Given the description of an element on the screen output the (x, y) to click on. 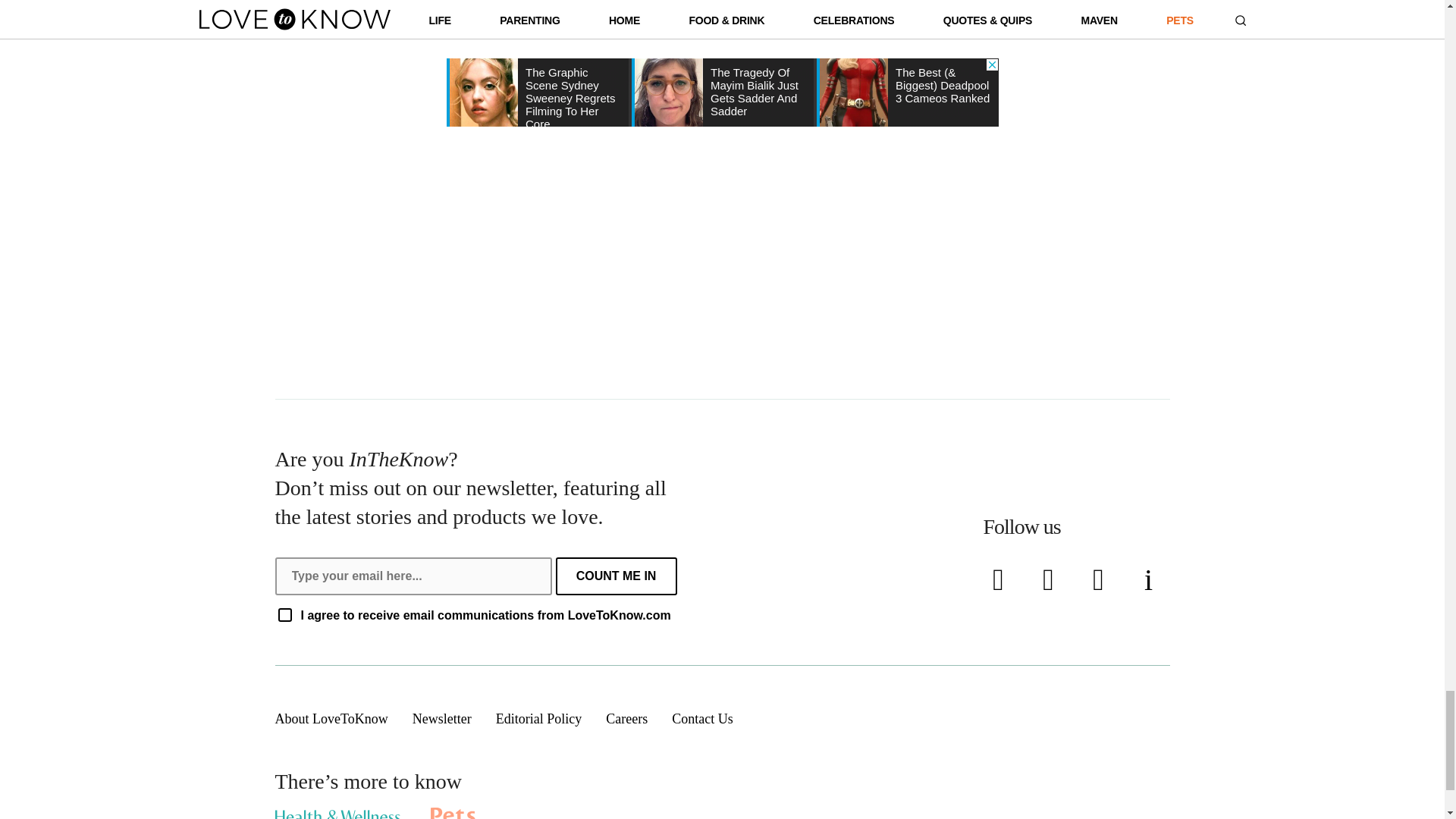
on (284, 614)
